Given the description of an element on the screen output the (x, y) to click on. 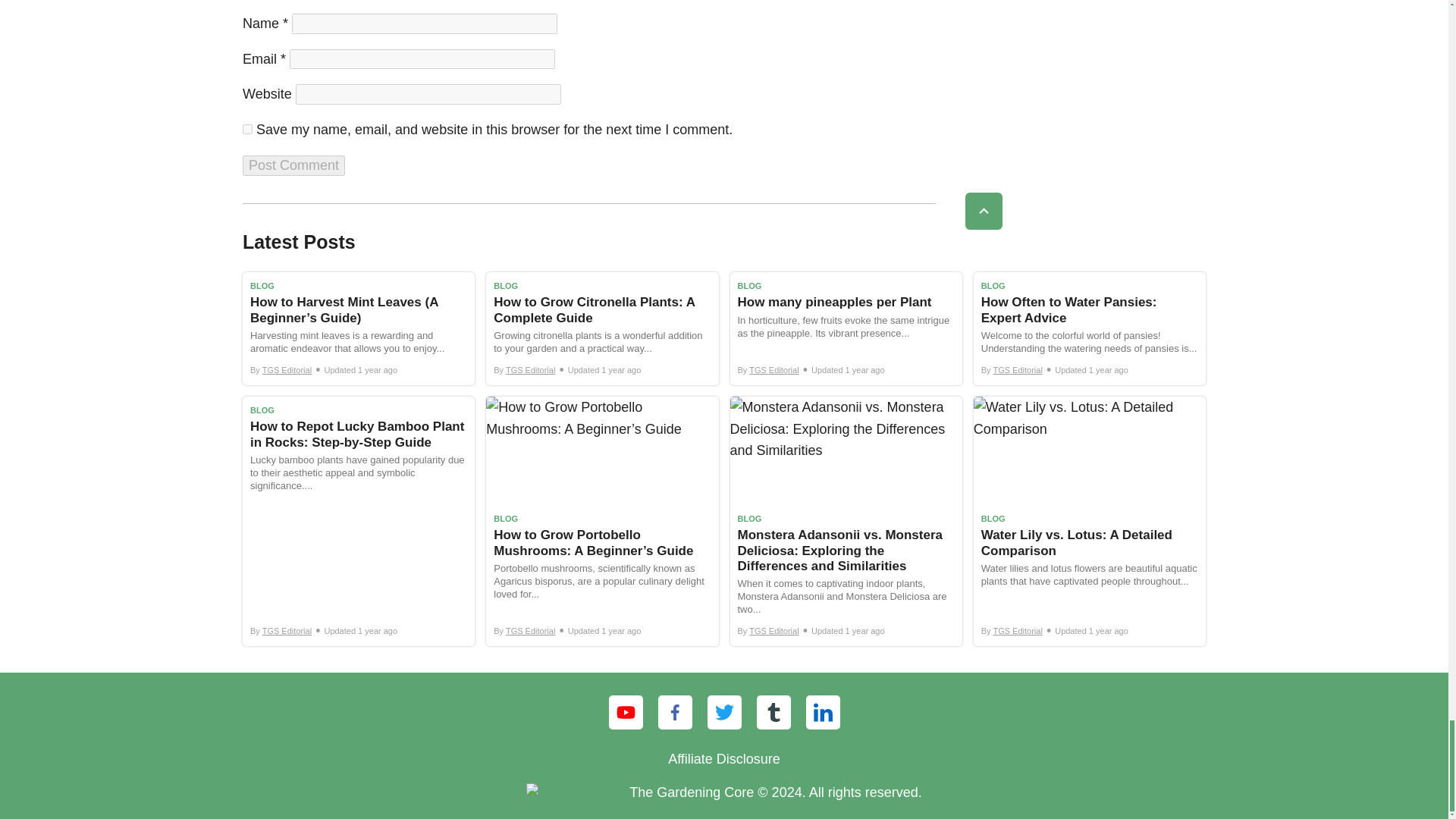
yes (247, 129)
Permanent Link to How many pineapples per Plant (844, 327)
Post Comment (294, 165)
Permanent Link to How Often to Water Pansies: Expert Advice (1089, 327)
